Given the description of an element on the screen output the (x, y) to click on. 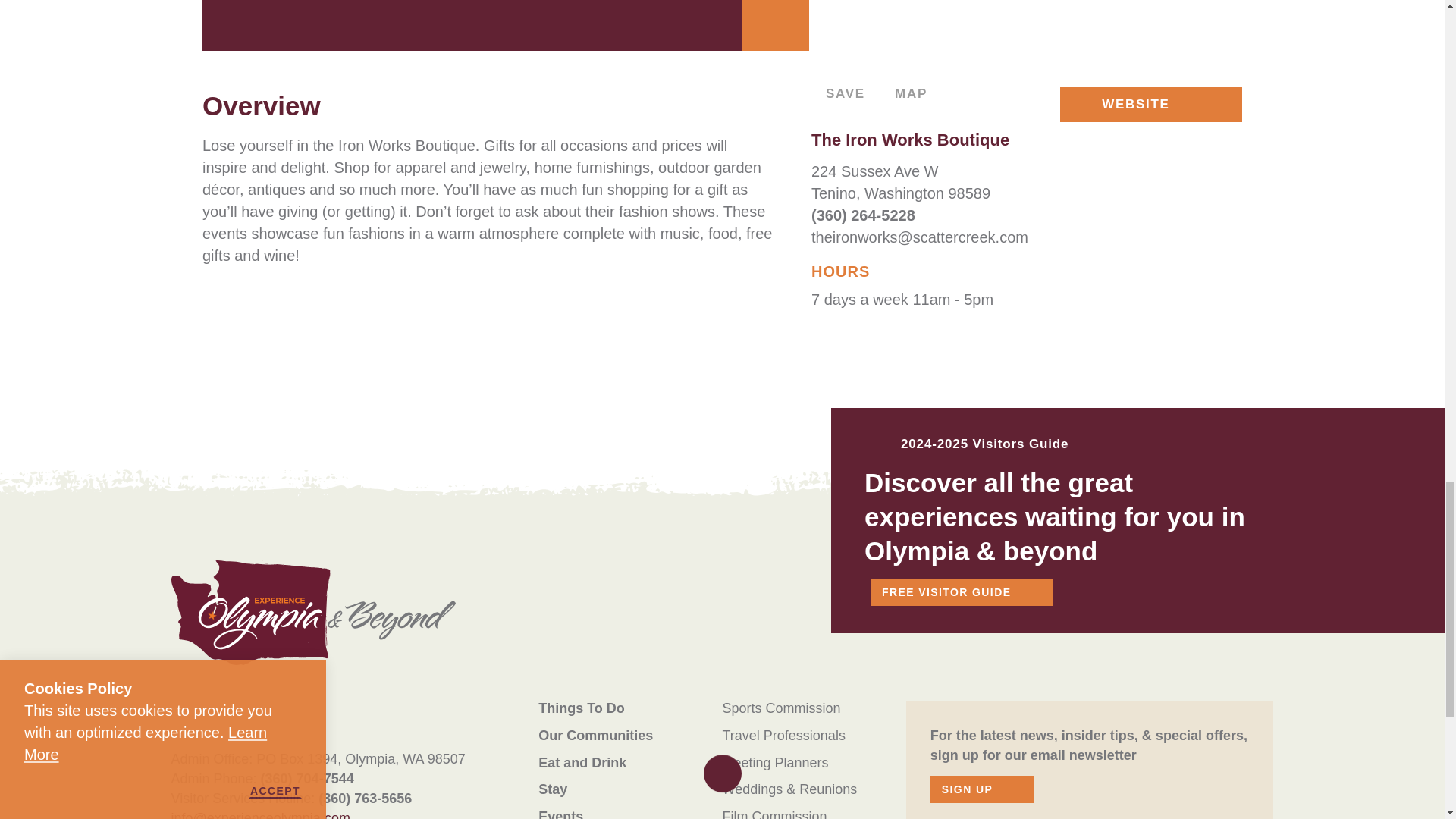
WEBSITE (1150, 104)
SAVE (837, 93)
Things To Do (581, 708)
MAP (905, 93)
FREE VISITOR GUIDE (961, 592)
